Given the description of an element on the screen output the (x, y) to click on. 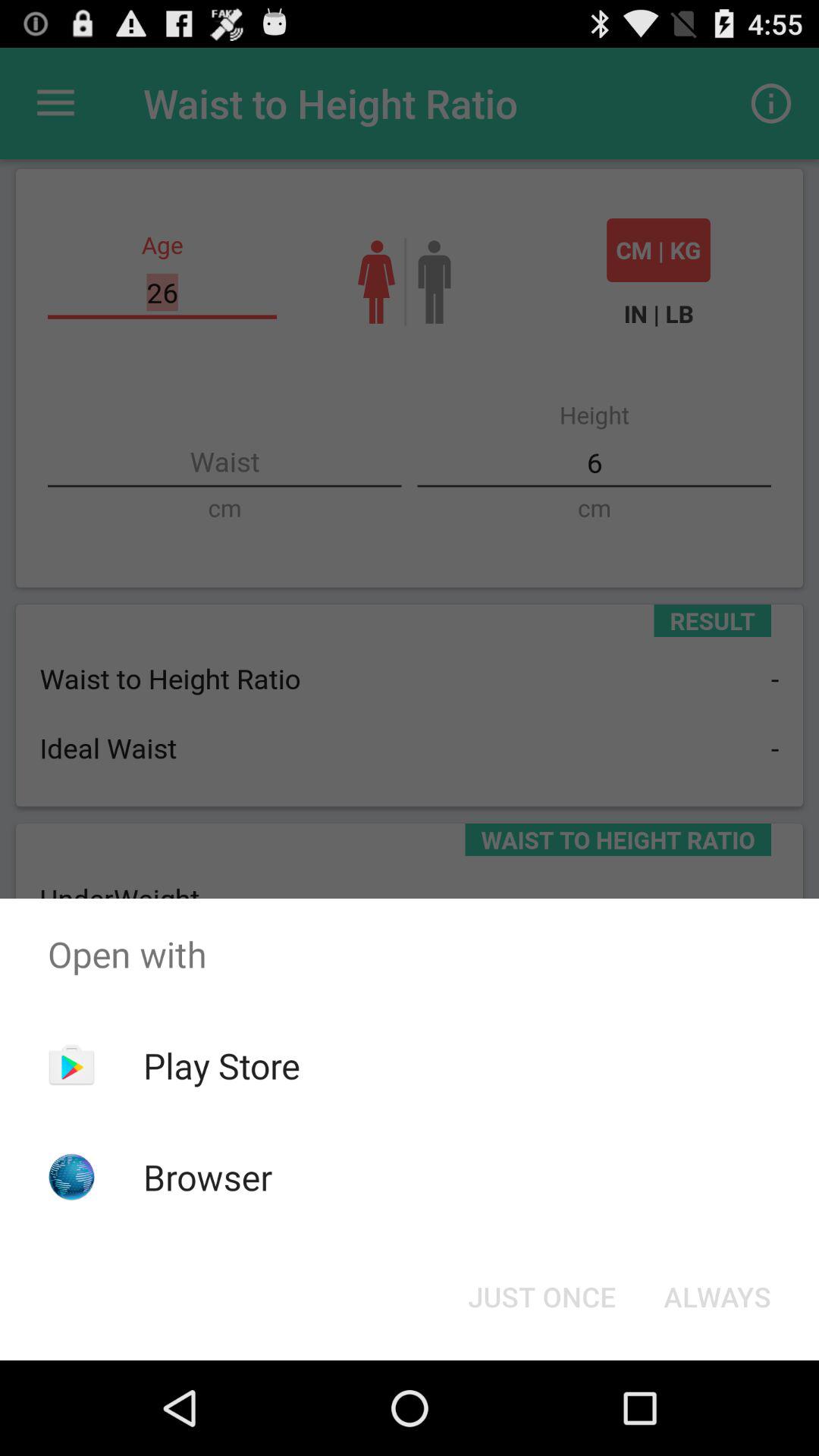
select item next to just once (717, 1296)
